Given the description of an element on the screen output the (x, y) to click on. 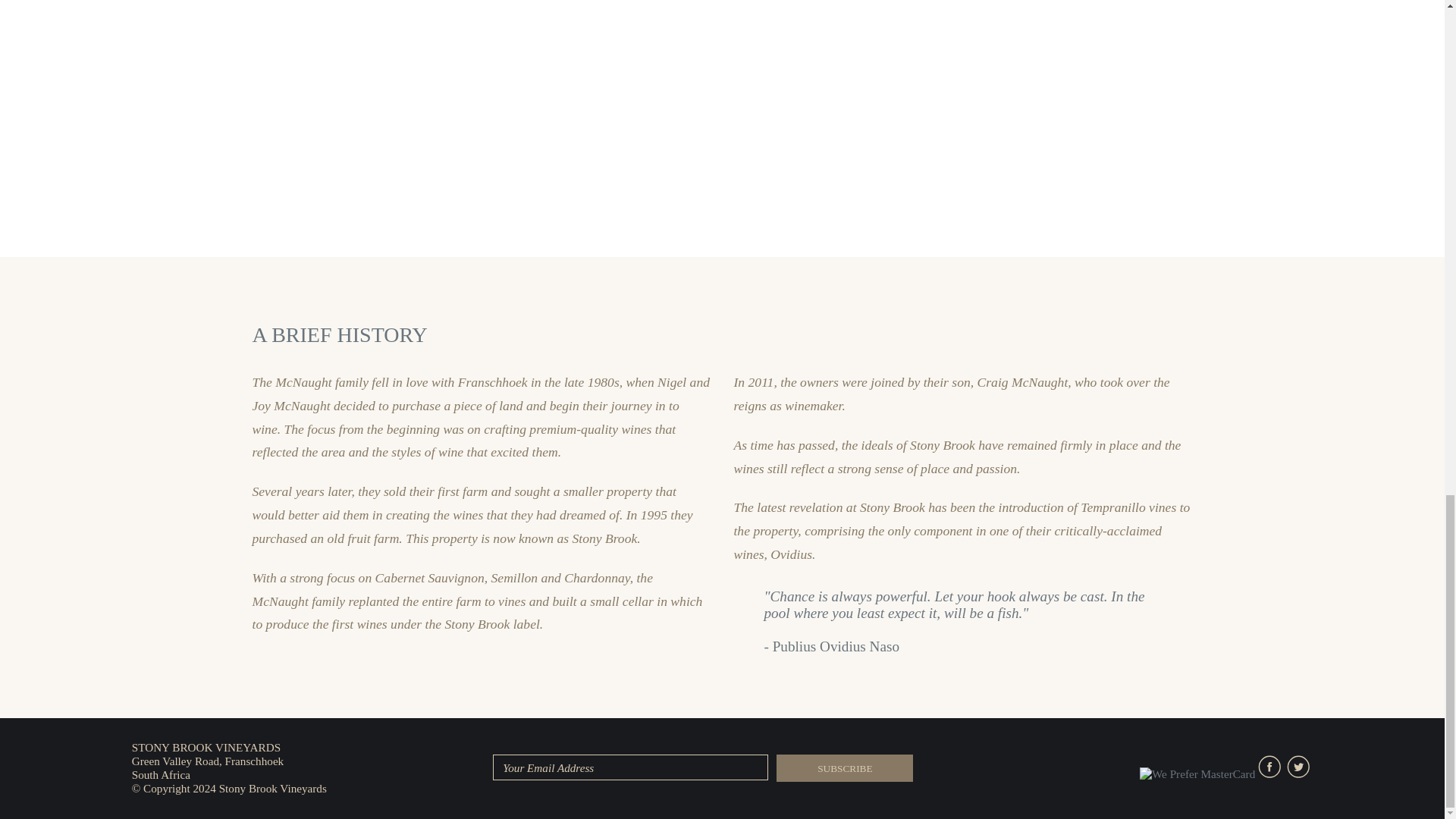
Stony Brook on Facebook (1272, 773)
Stony Brook Prefers MasterCard (1197, 774)
Your Email Address (630, 767)
Follow Stony Brook on Twitter (1300, 773)
Tempranillo from Franschhoek (240, 126)
SUBSCRIBE (844, 768)
